Given the description of an element on the screen output the (x, y) to click on. 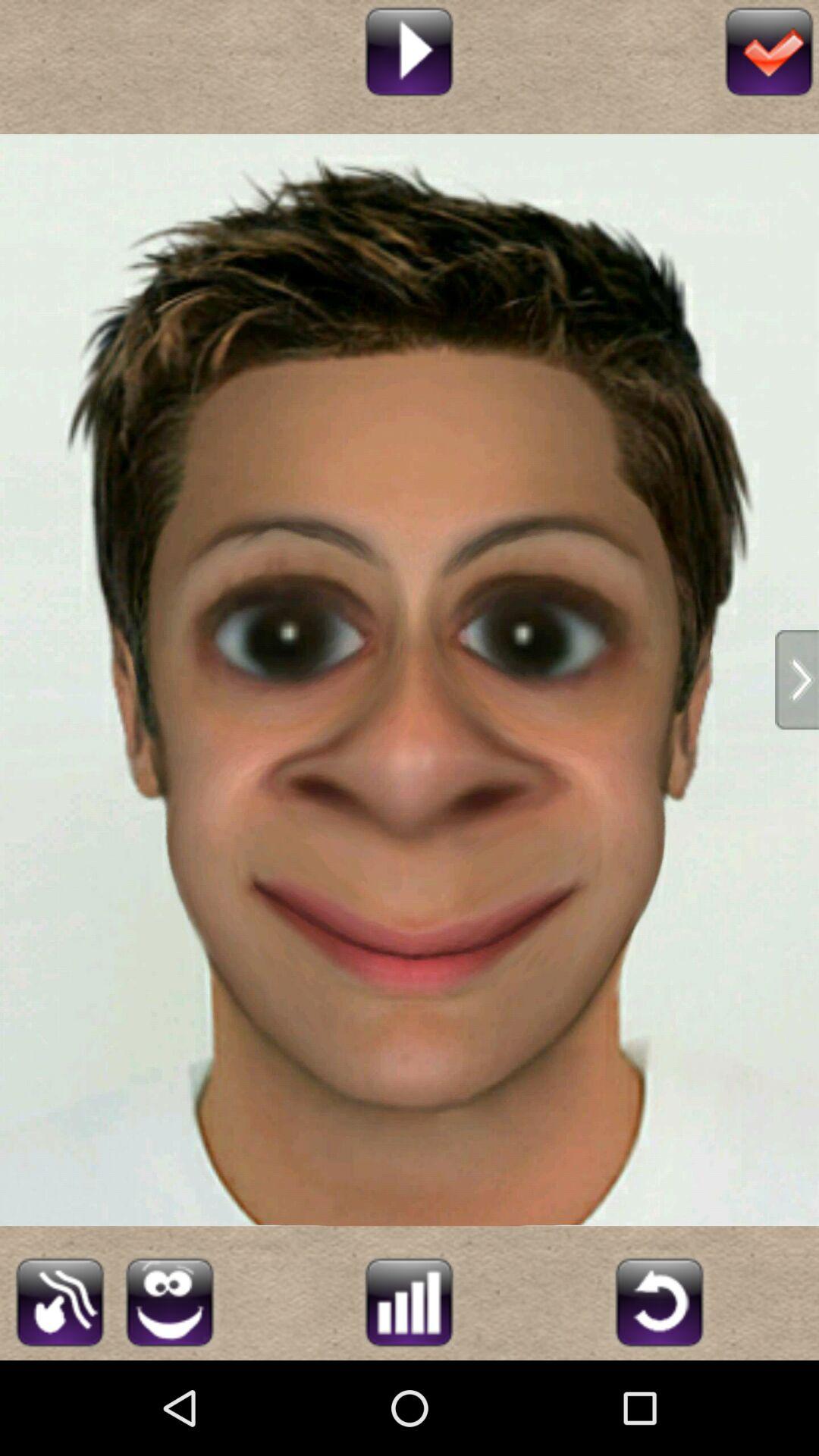
finish the editing (769, 49)
